Given the description of an element on the screen output the (x, y) to click on. 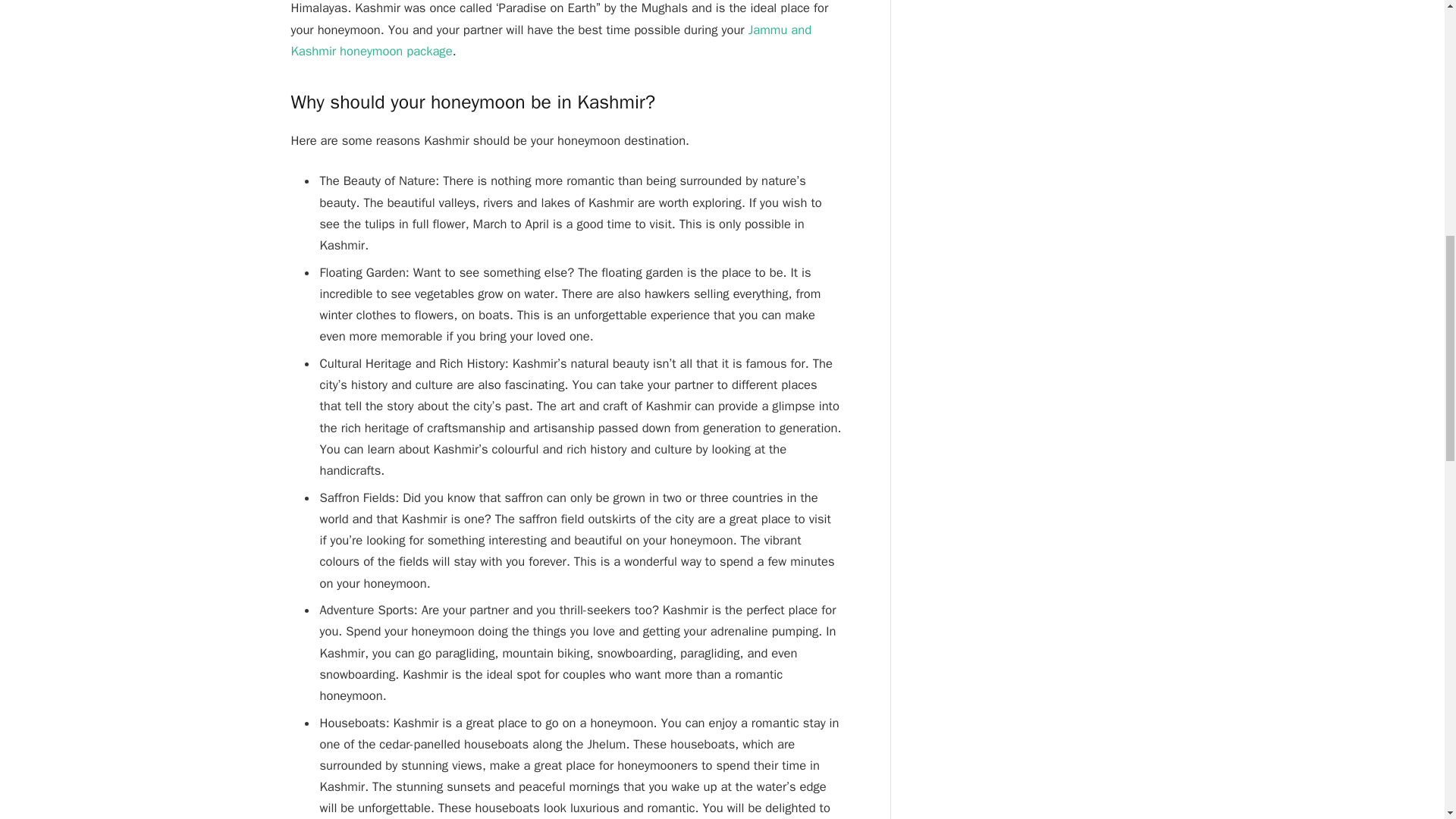
Jammu and Kashmir honeymoon package (551, 39)
